Given the description of an element on the screen output the (x, y) to click on. 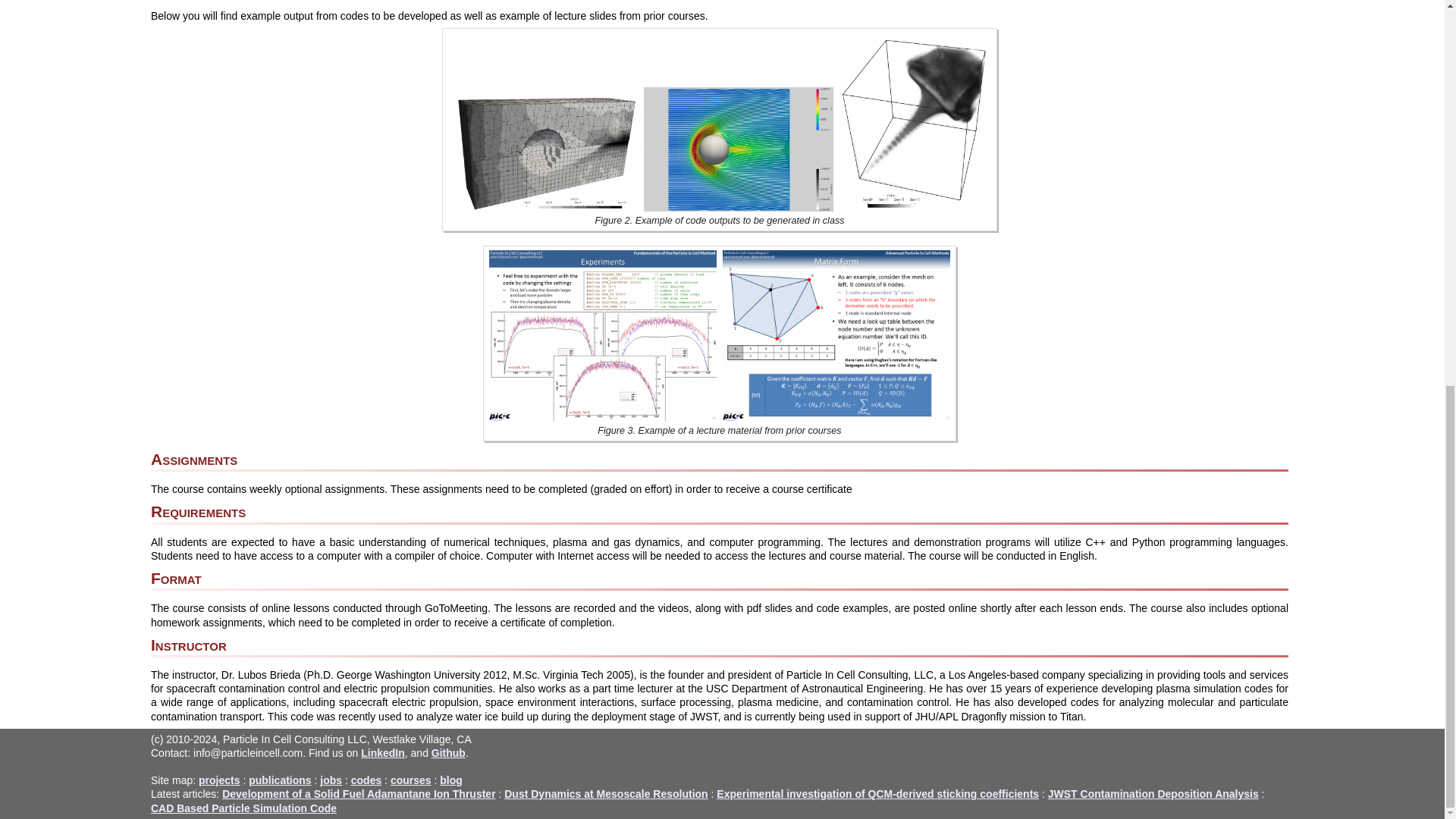
JWST Contamination Deposition Analysis (1153, 793)
jobs (331, 779)
projects (219, 779)
publications (279, 779)
courses (410, 779)
CAD Based Particle Simulation Code (243, 808)
Development of a Solid Fuel Adamantane Ion Thruster (358, 793)
Github (447, 752)
LinkedIn (382, 752)
Dust Dynamics at Mesoscale Resolution (605, 793)
blog (451, 779)
codes (365, 779)
